Given the description of an element on the screen output the (x, y) to click on. 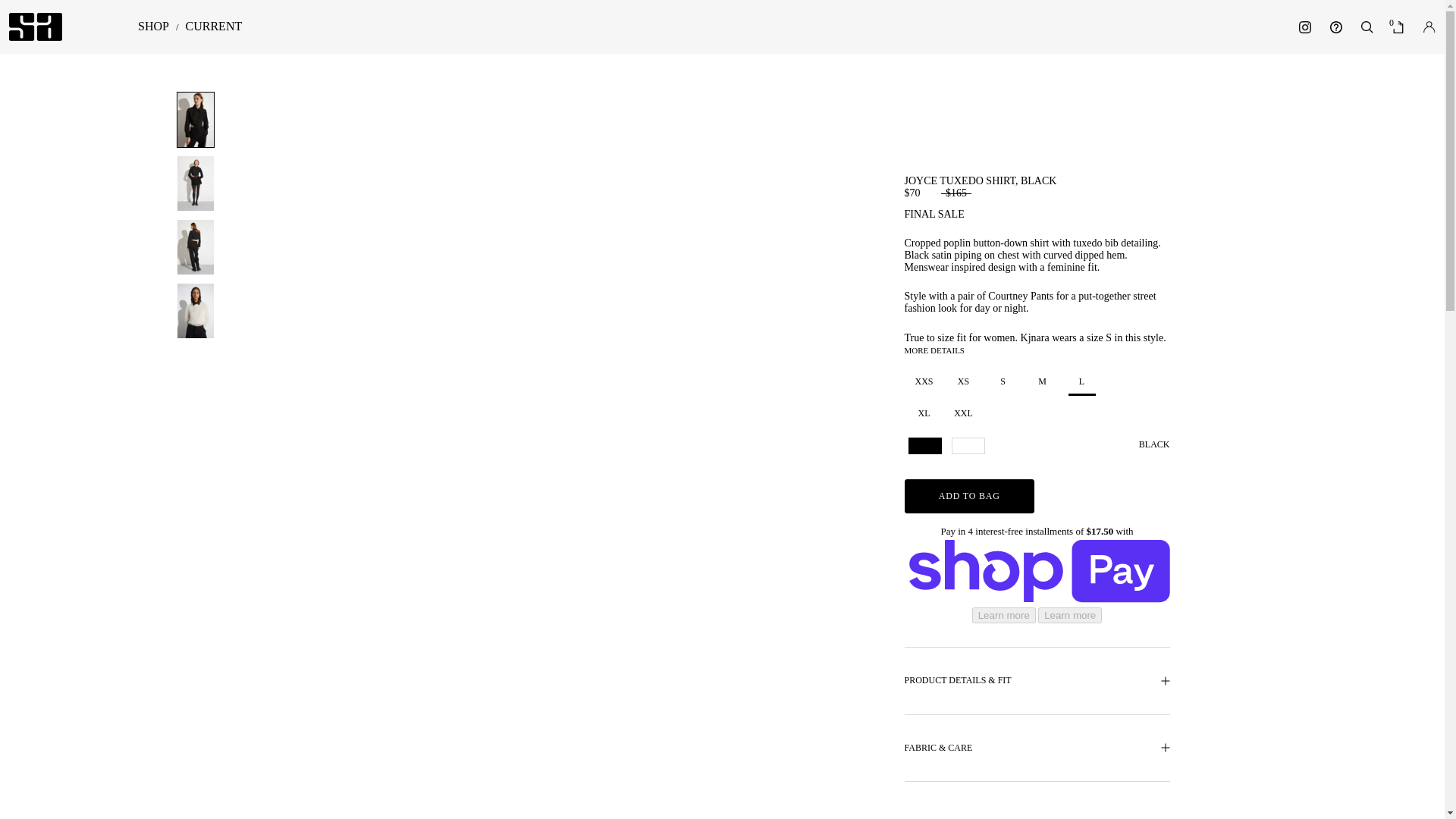
0 (1398, 27)
ADD TO BAG (968, 496)
SHOP (153, 26)
MORE DETAILS (933, 349)
CURRENT (214, 26)
